Given the description of an element on the screen output the (x, y) to click on. 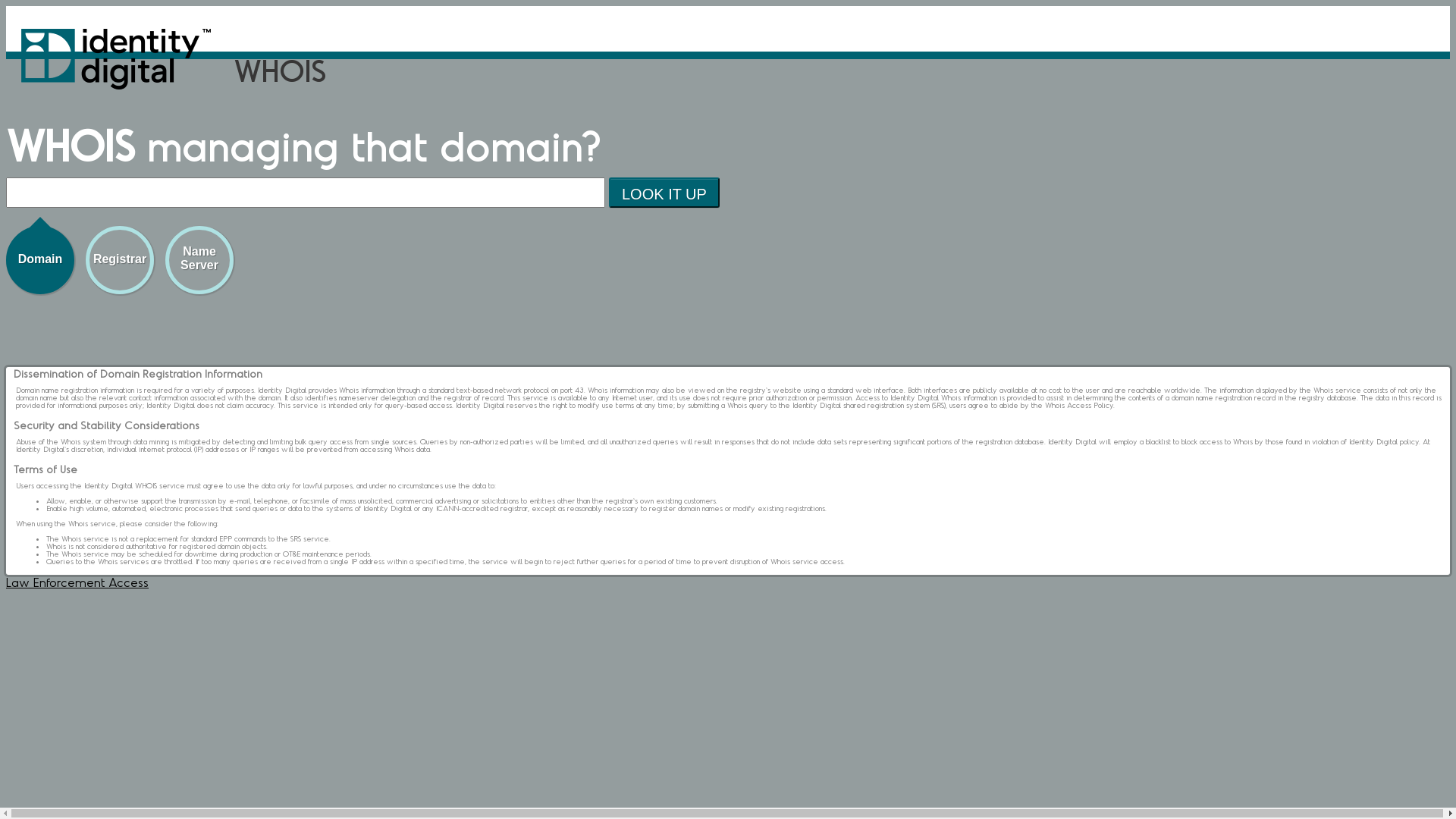
Law Enforcement Access Element type: text (77, 581)
Look It Up Element type: text (663, 192)
